Given the description of an element on the screen output the (x, y) to click on. 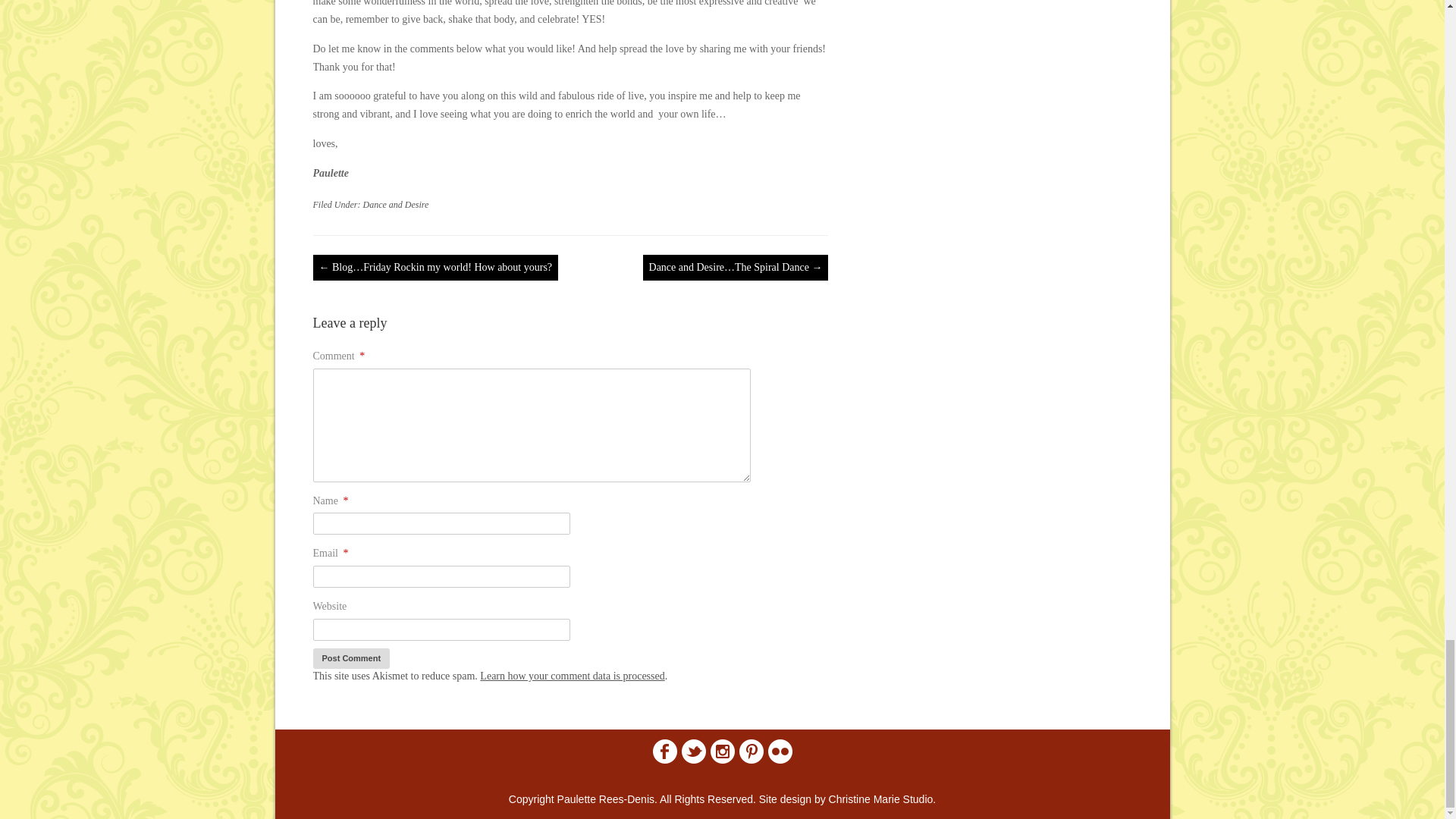
Post Comment (351, 658)
